Given the description of an element on the screen output the (x, y) to click on. 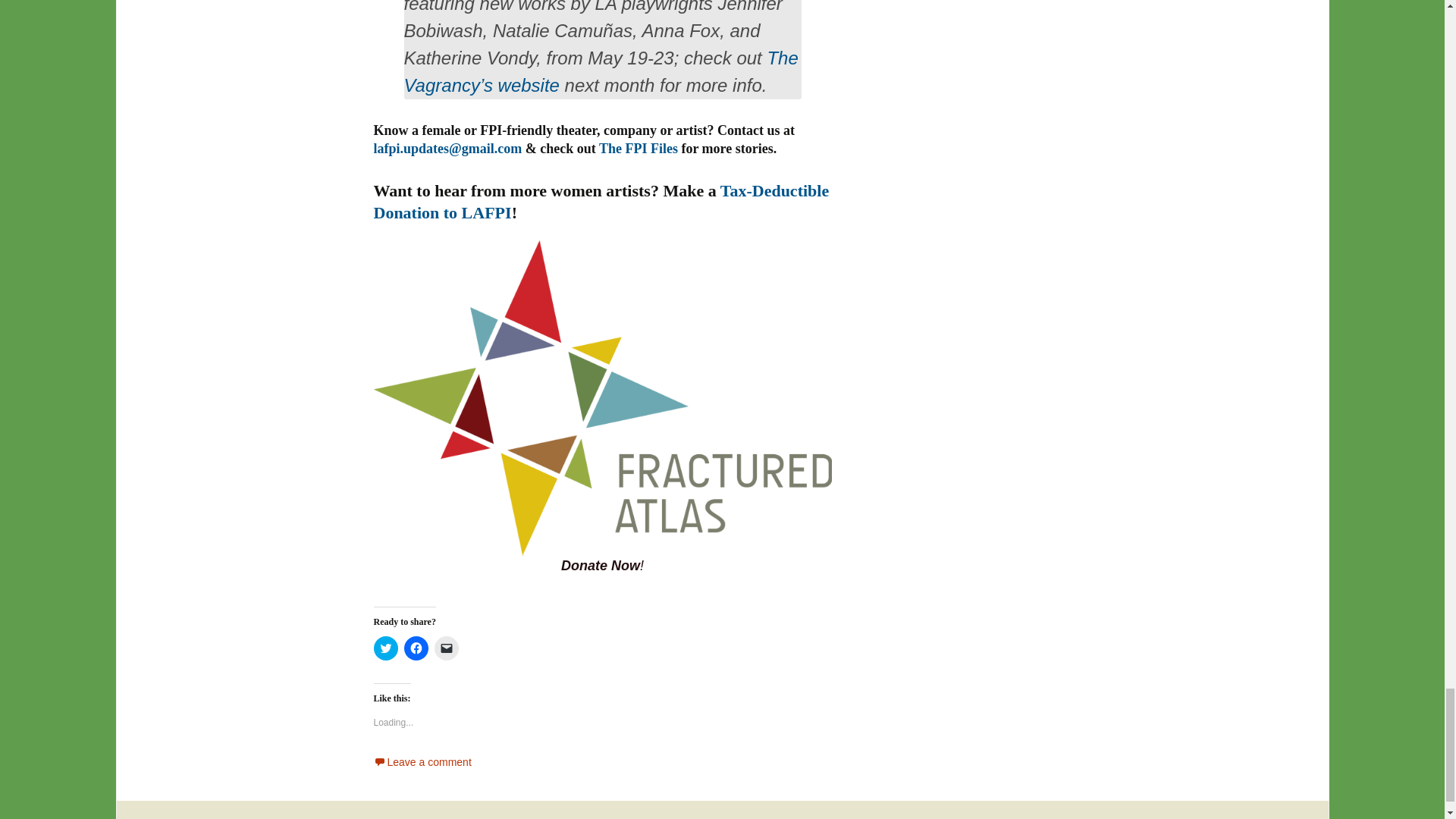
Click to share on Facebook (415, 648)
Click to share on Twitter (384, 648)
Click to email a link to a friend (445, 648)
